Given the description of an element on the screen output the (x, y) to click on. 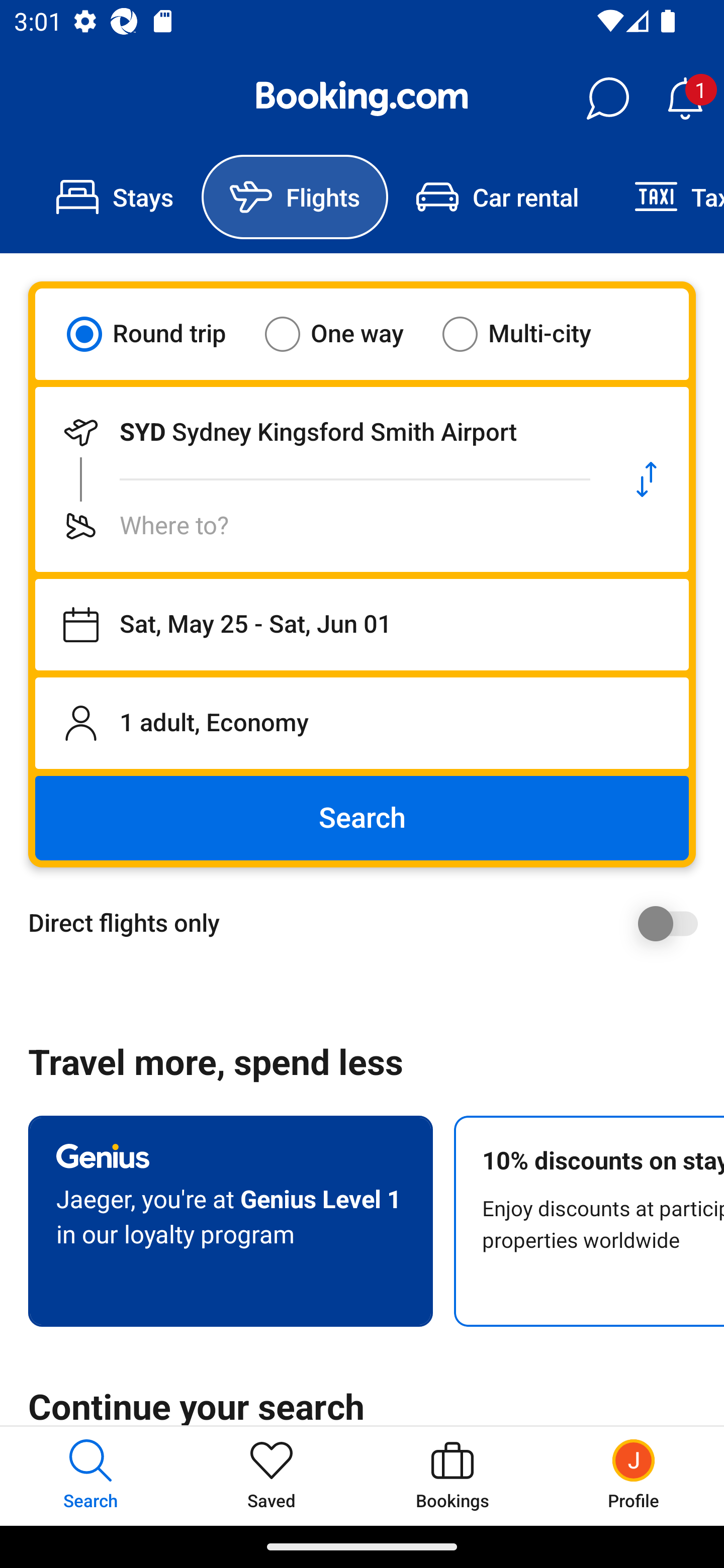
Messages (607, 98)
Notifications (685, 98)
Stays (114, 197)
Flights (294, 197)
Car rental (497, 197)
Taxi (665, 197)
One way (346, 333)
Multi-city (528, 333)
Departing from SYD Sydney Kingsford Smith Airport (319, 432)
Swap departure location and destination (646, 479)
Flying to  (319, 525)
Departing on Sat, May 25, returning on Sat, Jun 01 (361, 624)
1 adult, Economy (361, 722)
Search (361, 818)
Direct flights only (369, 923)
Saved (271, 1475)
Bookings (452, 1475)
Profile (633, 1475)
